Given the description of an element on the screen output the (x, y) to click on. 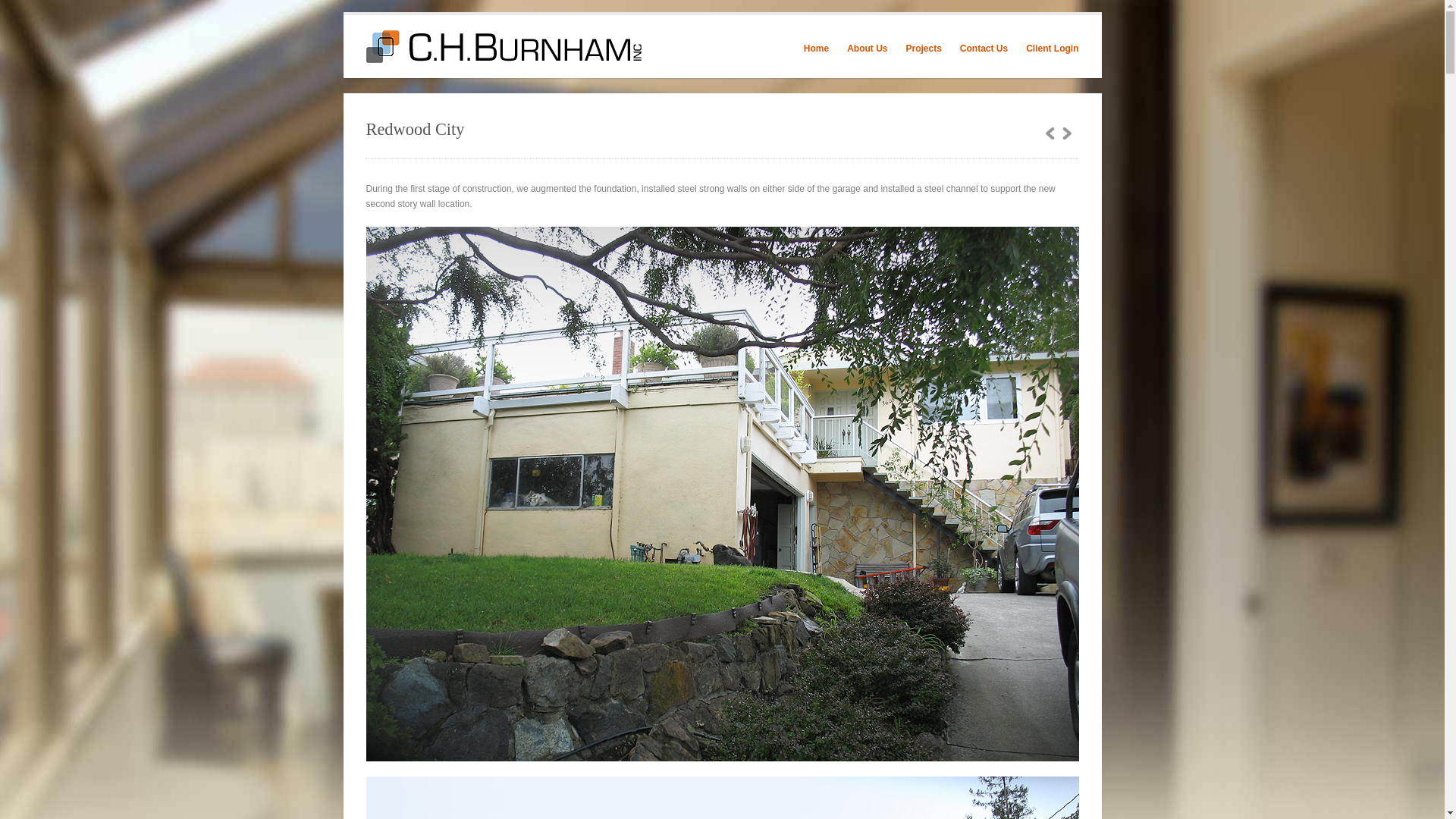
Contact Us (983, 48)
Home (815, 48)
About Us (866, 48)
Projects (922, 48)
Client Login (1052, 48)
